Given the description of an element on the screen output the (x, y) to click on. 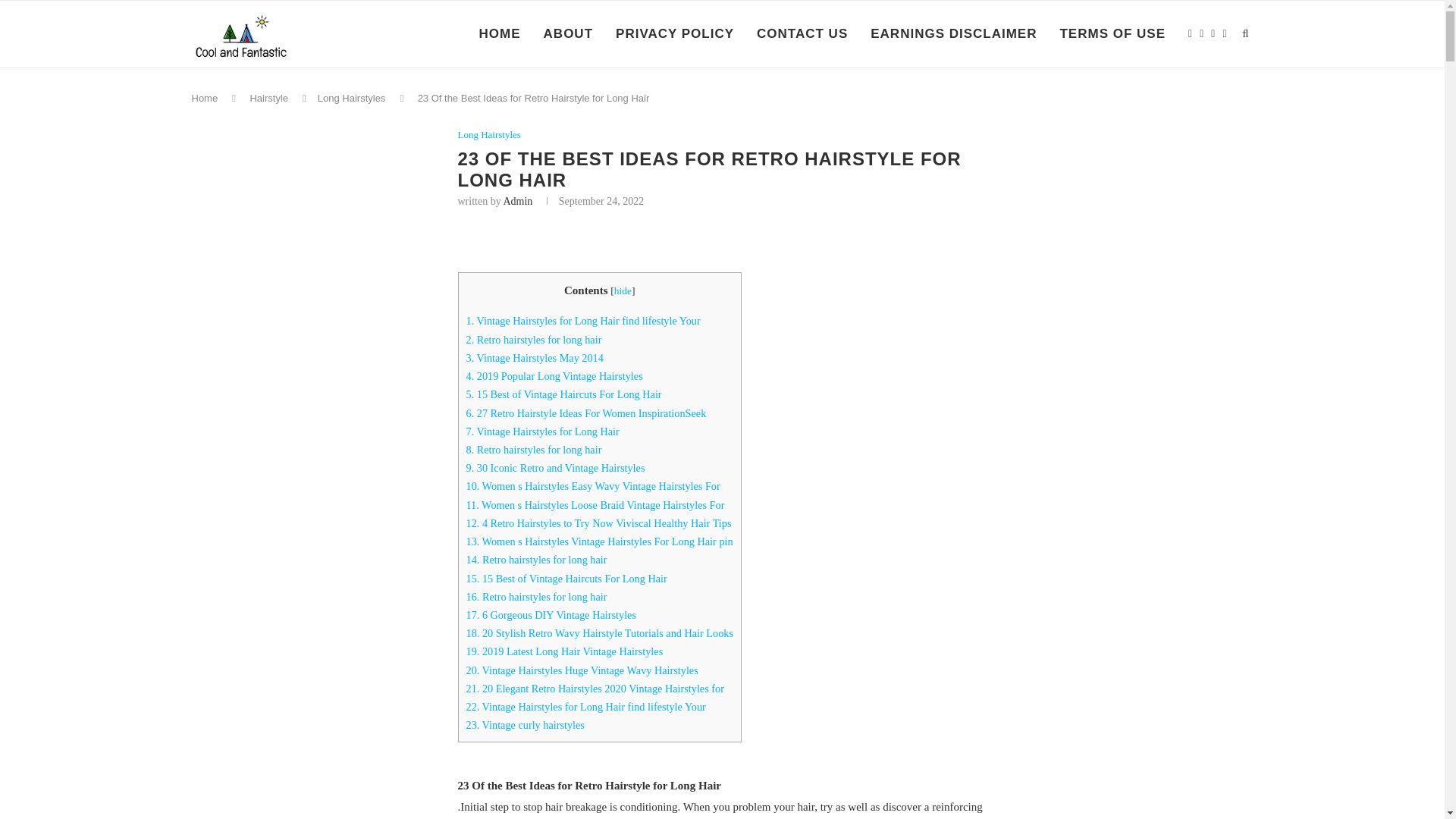
3. Vintage Hairstyles May 2014 (533, 357)
PRIVACY POLICY (674, 33)
Admin (517, 201)
1. Vintage Hairstyles for Long Hair find lifestyle Your (582, 320)
5. 15 Best of Vintage Haircuts For Long Hair (563, 394)
2. Retro hairstyles for long hair (533, 339)
Long Hairstyles (351, 98)
Hairstyle (268, 98)
hide (622, 290)
